Given the description of an element on the screen output the (x, y) to click on. 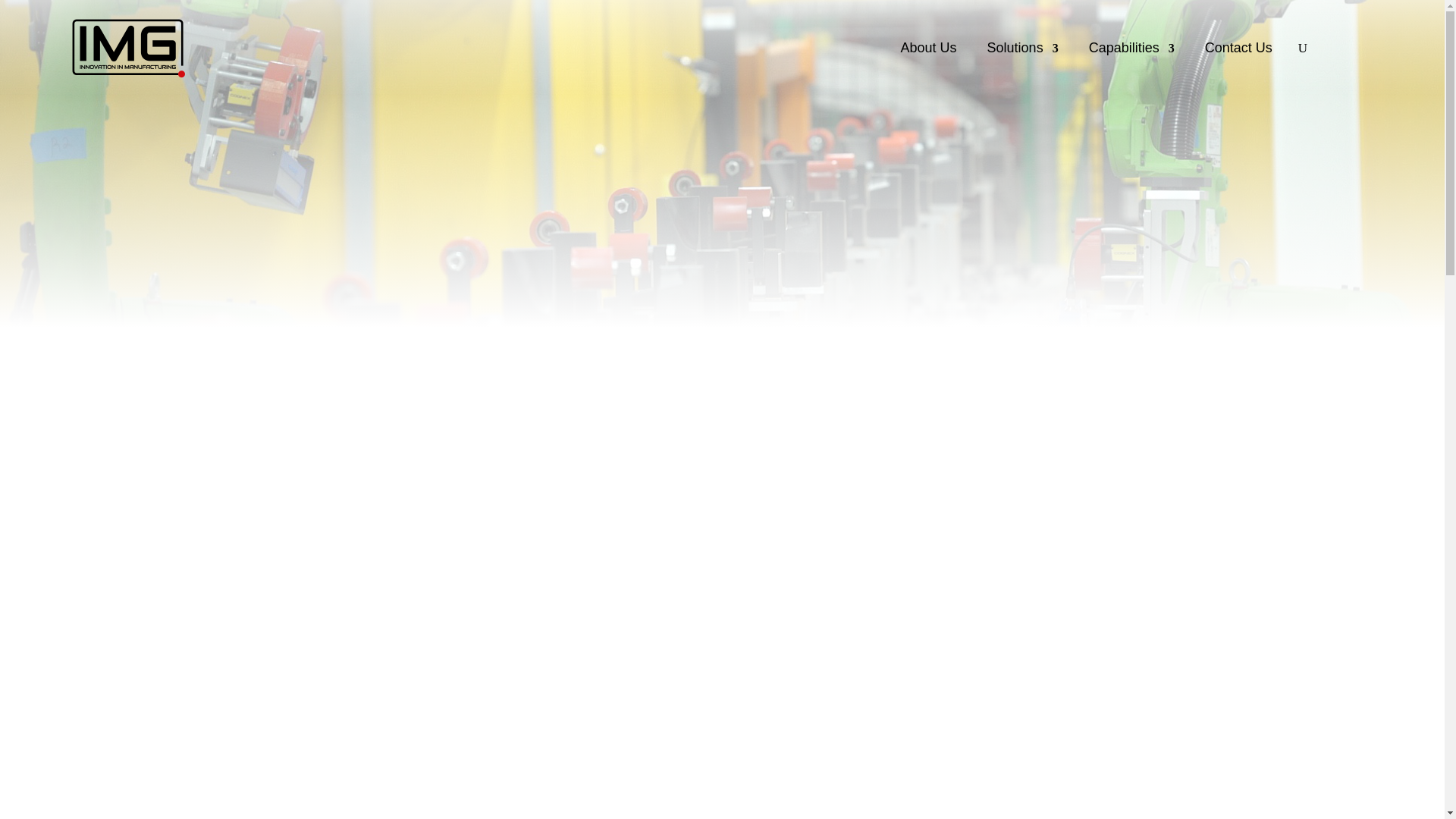
Solutions (1022, 48)
img-na-vision-systems-featured-image (360, 492)
Contact Us (1238, 48)
Capabilities (1131, 48)
